Given the description of an element on the screen output the (x, y) to click on. 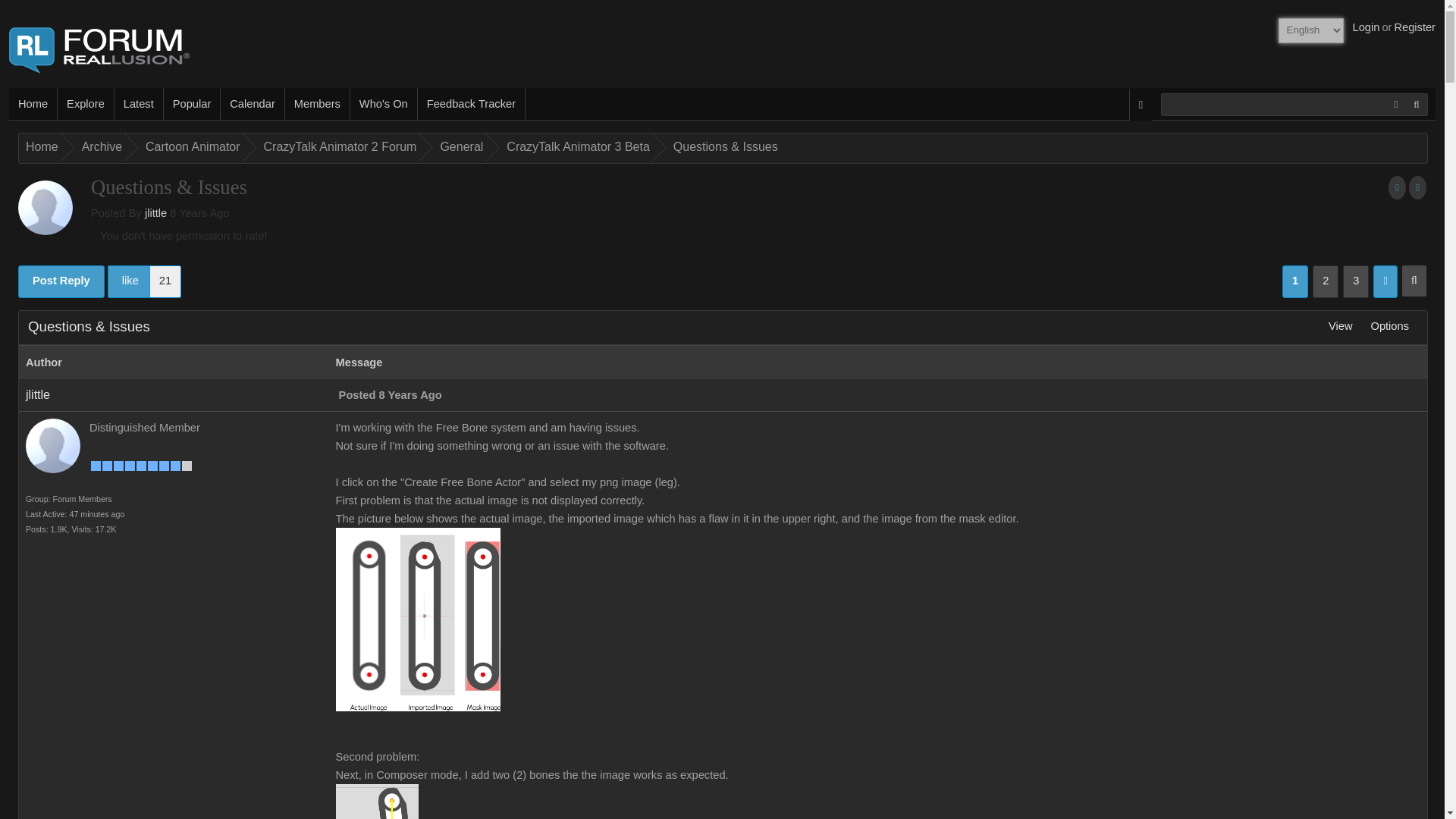
Click to view CrazyTalk Animator 3 Beta (575, 146)
Latest (139, 103)
Archive (99, 146)
Click to view Cartoon Animator (190, 146)
General (458, 146)
Login (1366, 27)
Popular (192, 103)
Members (317, 103)
Calendar (252, 103)
